Given the description of an element on the screen output the (x, y) to click on. 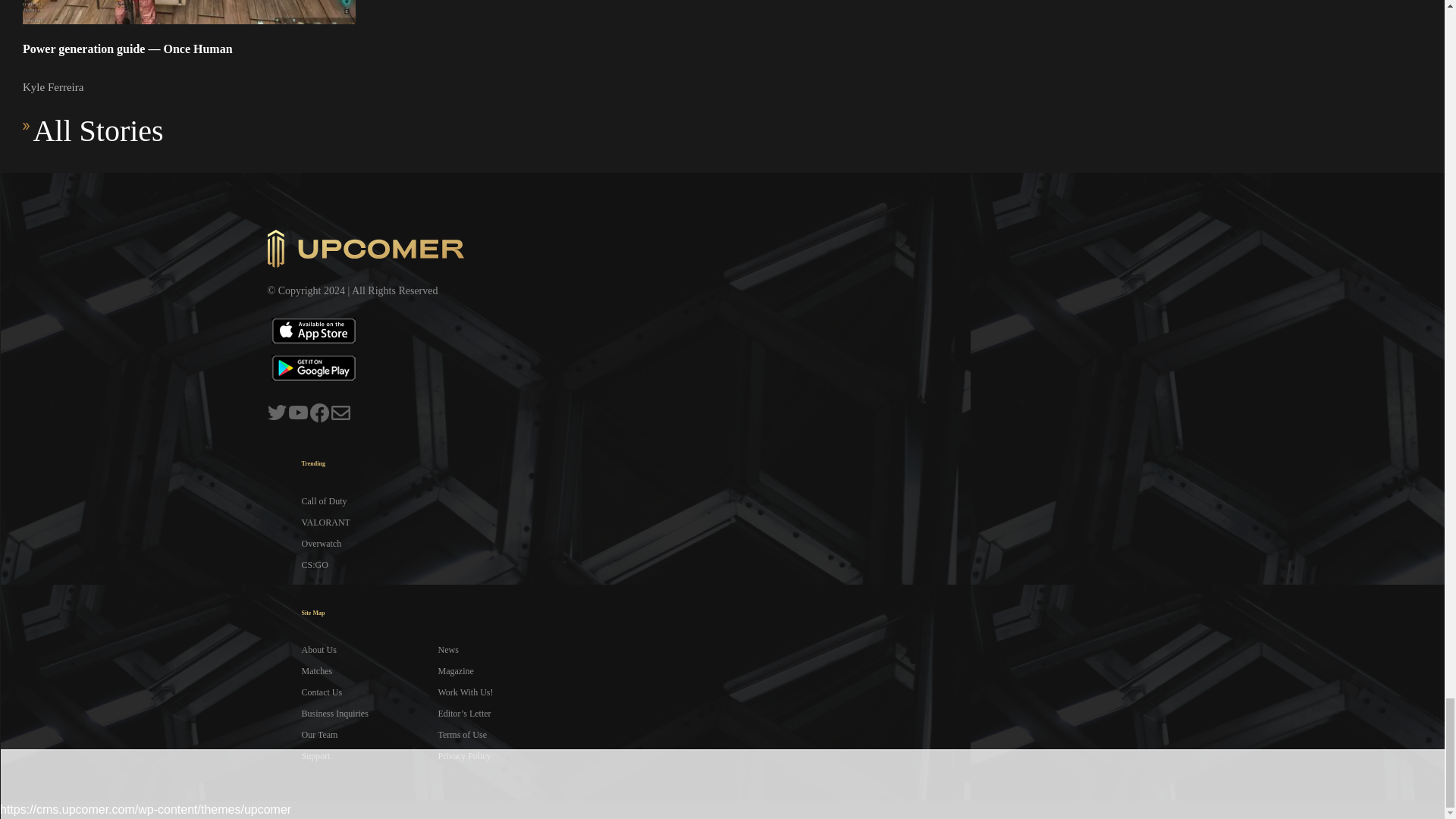
Upcomer Logo (365, 248)
